Given the description of an element on the screen output the (x, y) to click on. 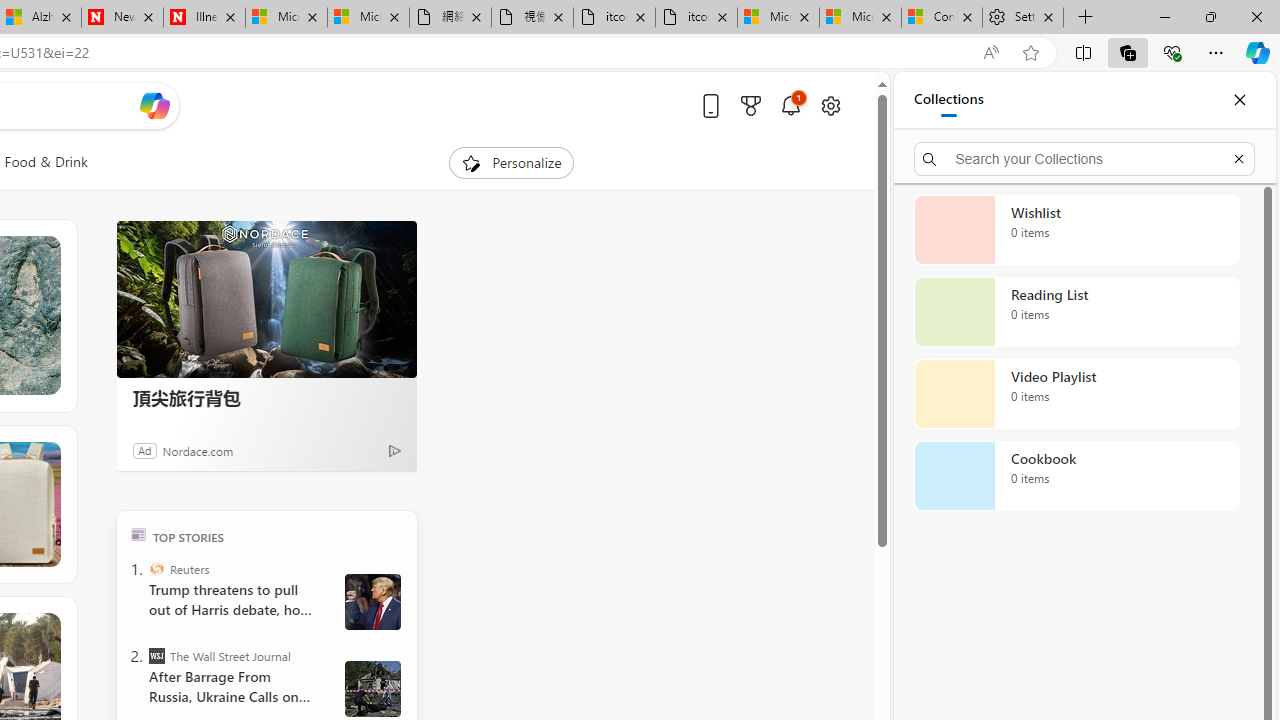
Newsweek - News, Analysis, Politics, Business, Technology (121, 17)
Reuters (156, 568)
Wishlist collection, 0 items (1076, 229)
The Wall Street Journal (156, 655)
Search your Collections (1084, 158)
TOP (138, 534)
